Given the description of an element on the screen output the (x, y) to click on. 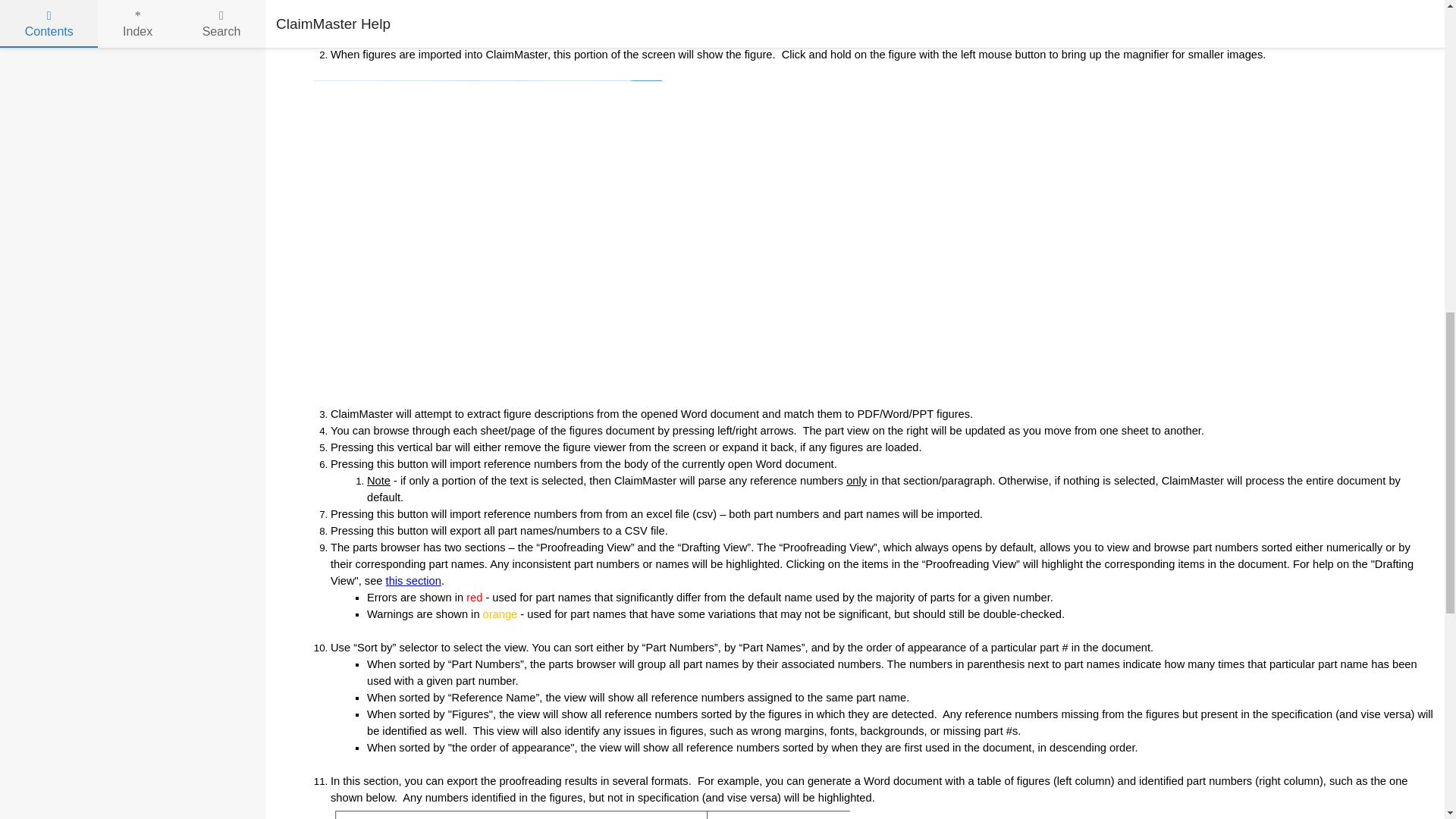
this section (413, 580)
